Given the description of an element on the screen output the (x, y) to click on. 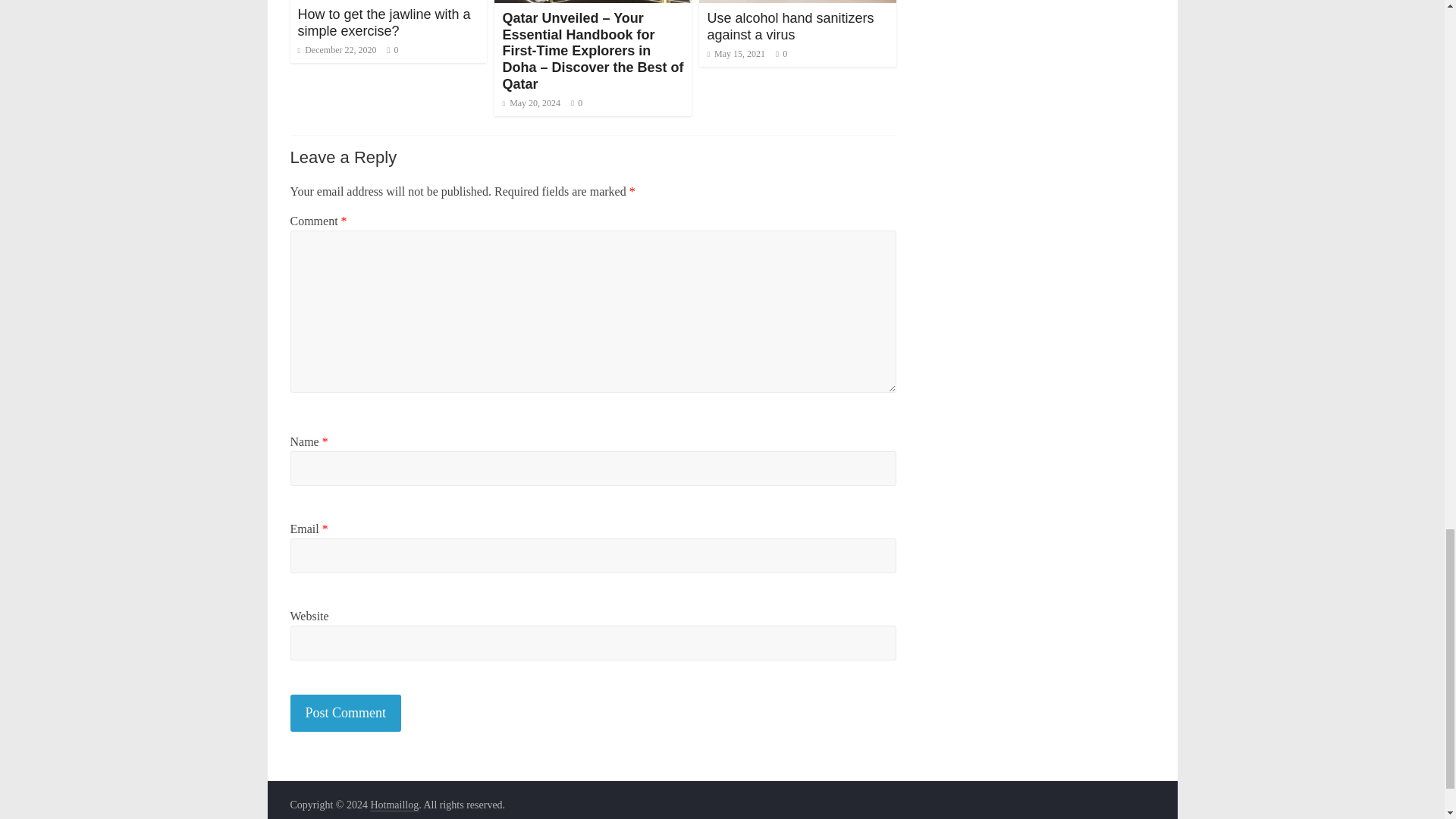
May 20, 2024 (531, 102)
Use alcohol hand sanitizers against a virus (789, 26)
2:14 pm (531, 102)
How to get the jawline with a simple exercise? (383, 22)
10:50 am (336, 50)
December 22, 2020 (336, 50)
How to get the jawline with a simple exercise? (383, 22)
Post Comment (345, 713)
